Given the description of an element on the screen output the (x, y) to click on. 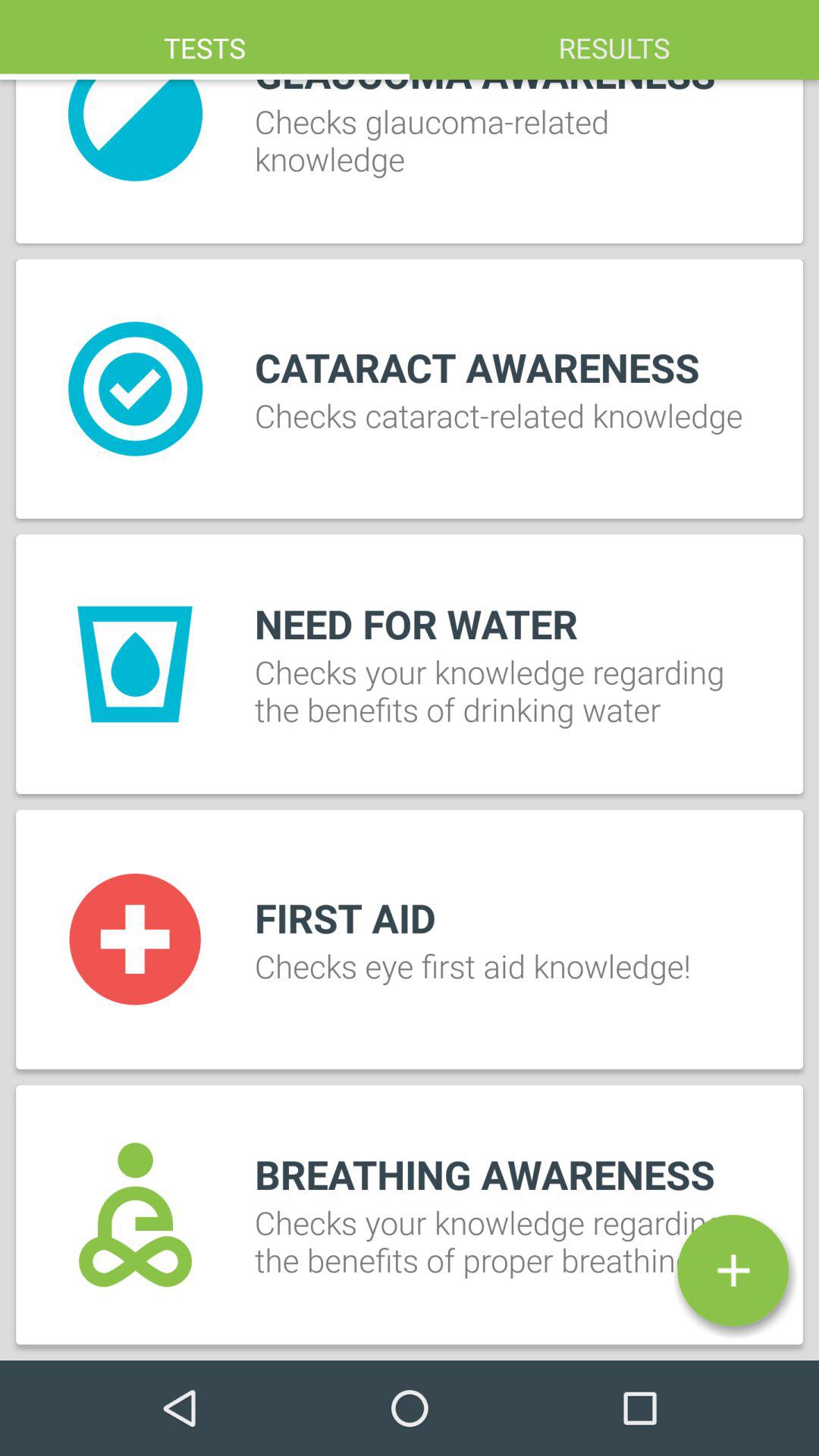
click the icon above checks glaucoma related item (614, 39)
